Given the description of an element on the screen output the (x, y) to click on. 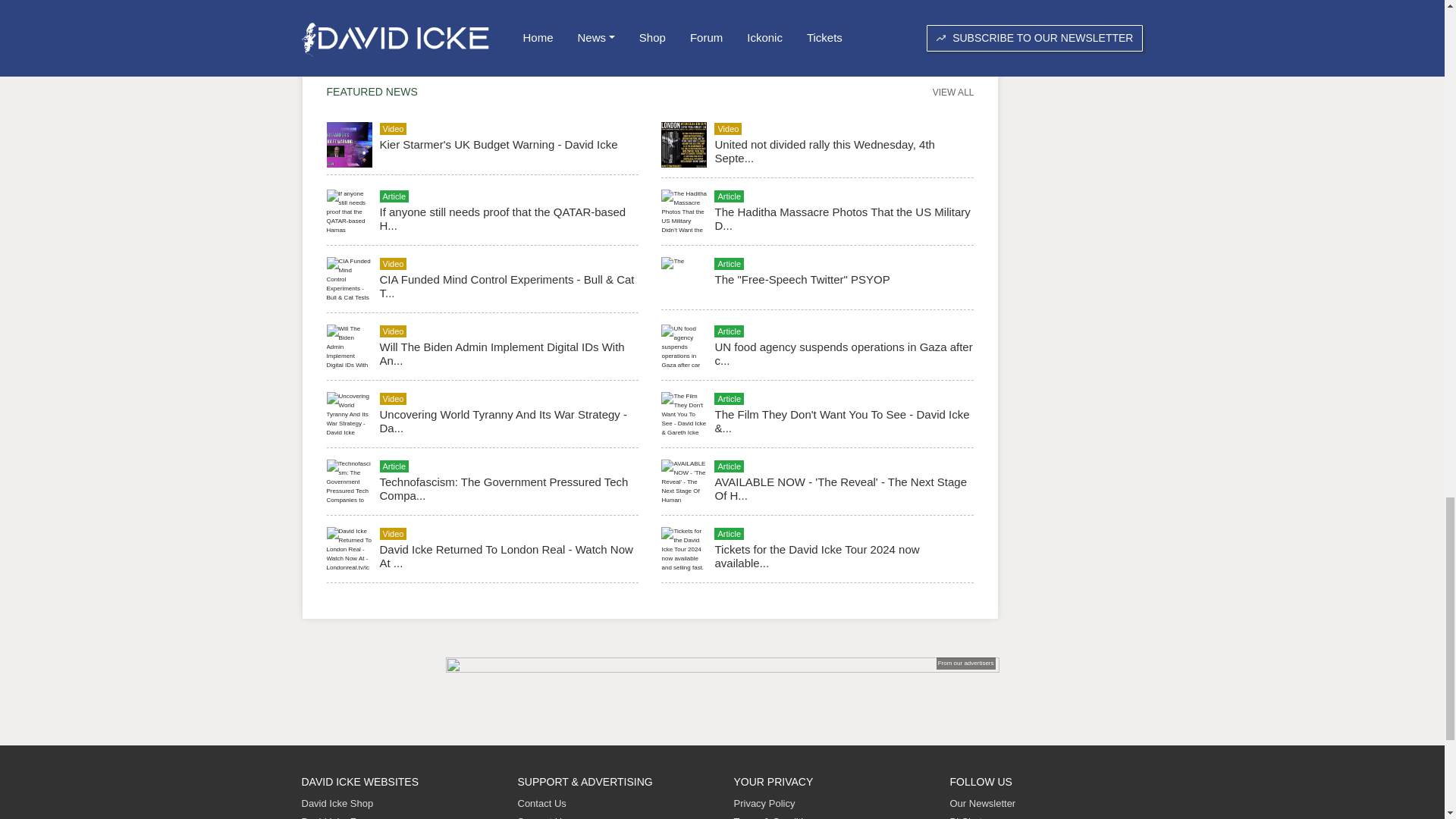
Kier Starmer's UK Budget Warning - David Icke (497, 144)
